Given the description of an element on the screen output the (x, y) to click on. 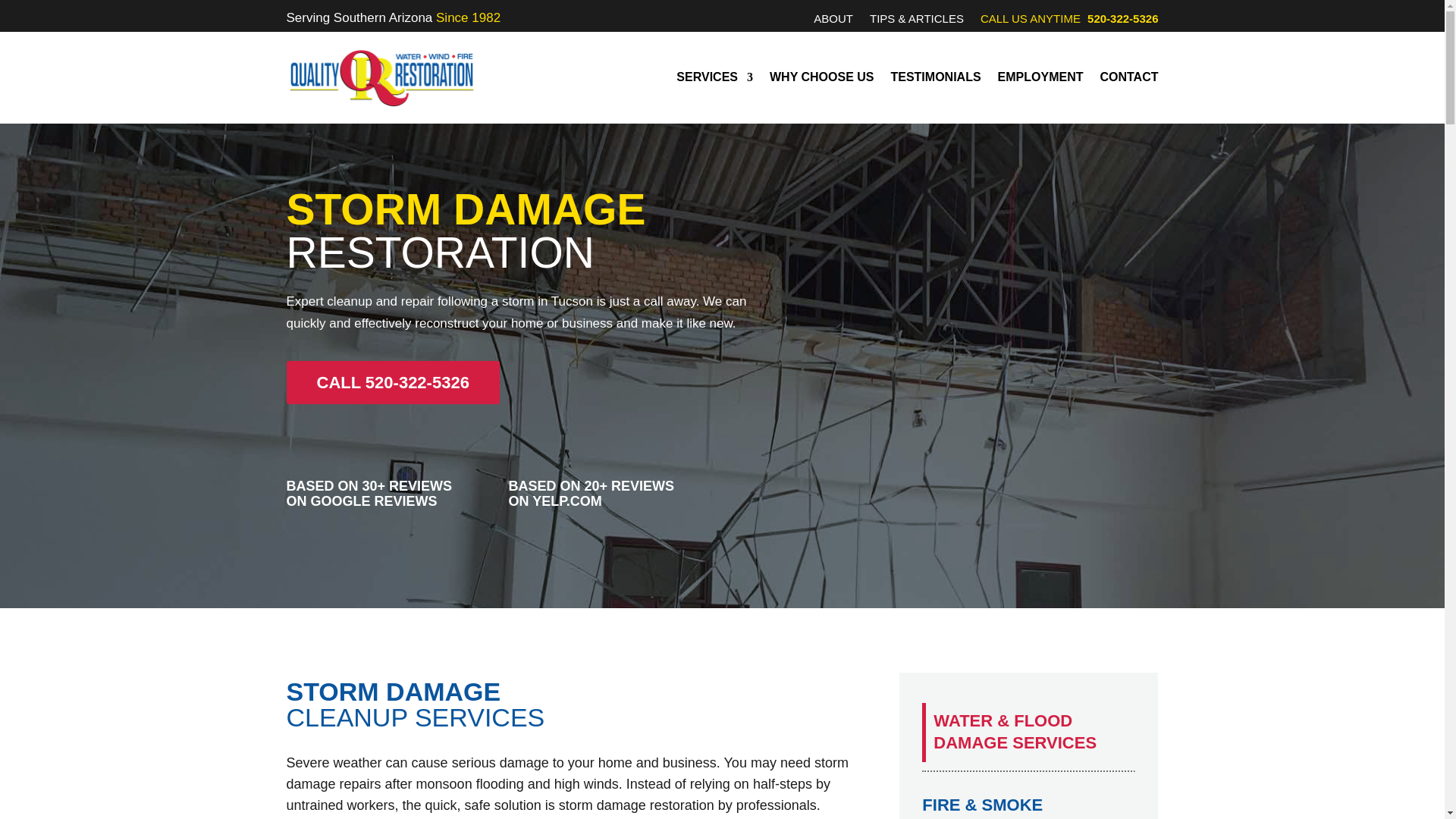
CALL US ANYTIME 520-322-5326 (1068, 21)
ABOUT (833, 21)
WHY CHOOSE US (822, 77)
CONTACT (1128, 77)
CALL 520-322-5326 (392, 382)
TESTIMONIALS (934, 77)
EMPLOYMENT (1040, 77)
SERVICES (714, 77)
